Given the description of an element on the screen output the (x, y) to click on. 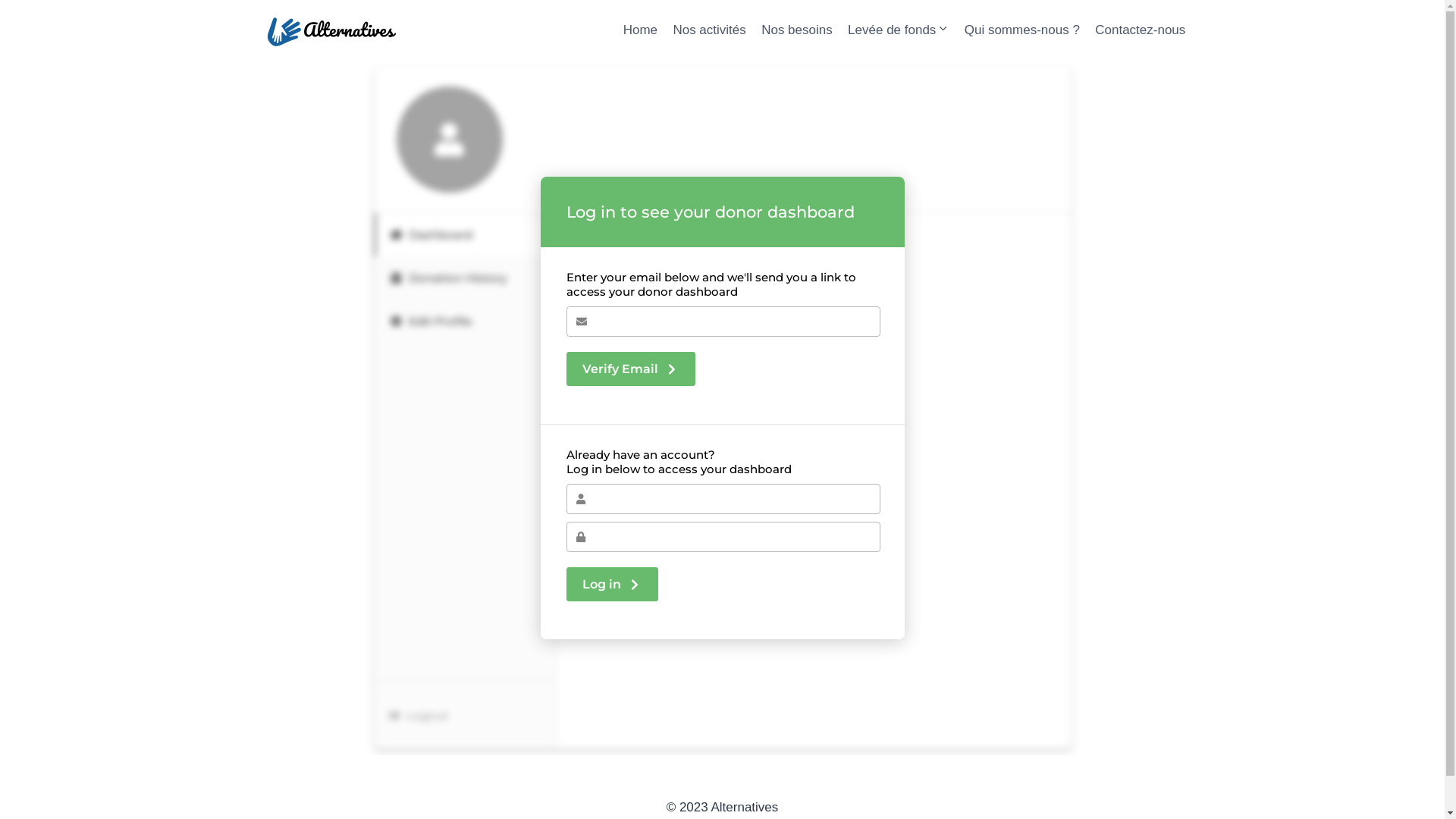
Nos besoins Element type: text (796, 30)
Contactez-nous Element type: text (1139, 30)
Qui sommes-nous ? Element type: text (1022, 30)
Home Element type: text (640, 30)
